Given the description of an element on the screen output the (x, y) to click on. 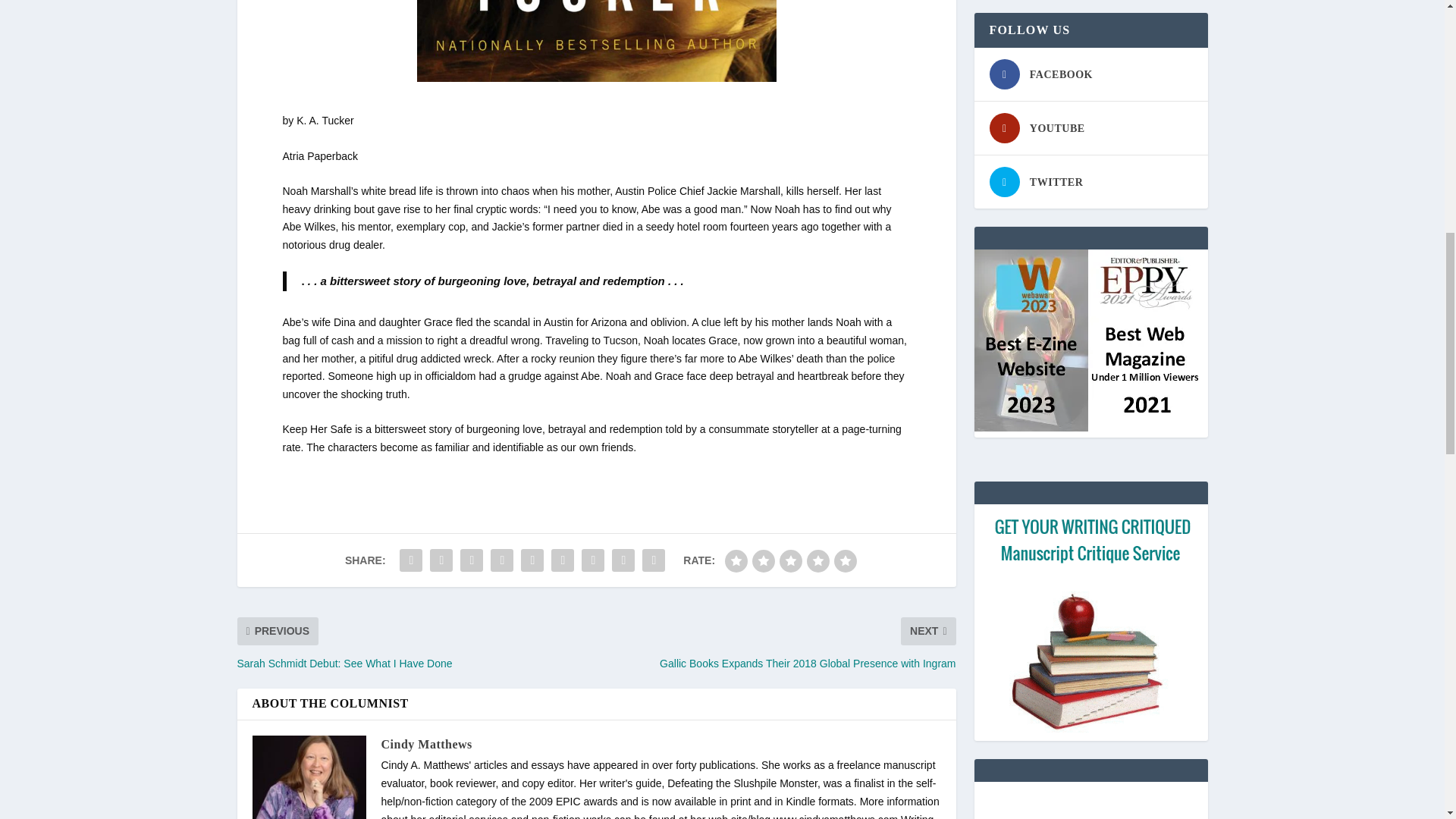
Share "Book Review: Keep Her Safe by K. A. Tucker" via Email (623, 560)
